Given the description of an element on the screen output the (x, y) to click on. 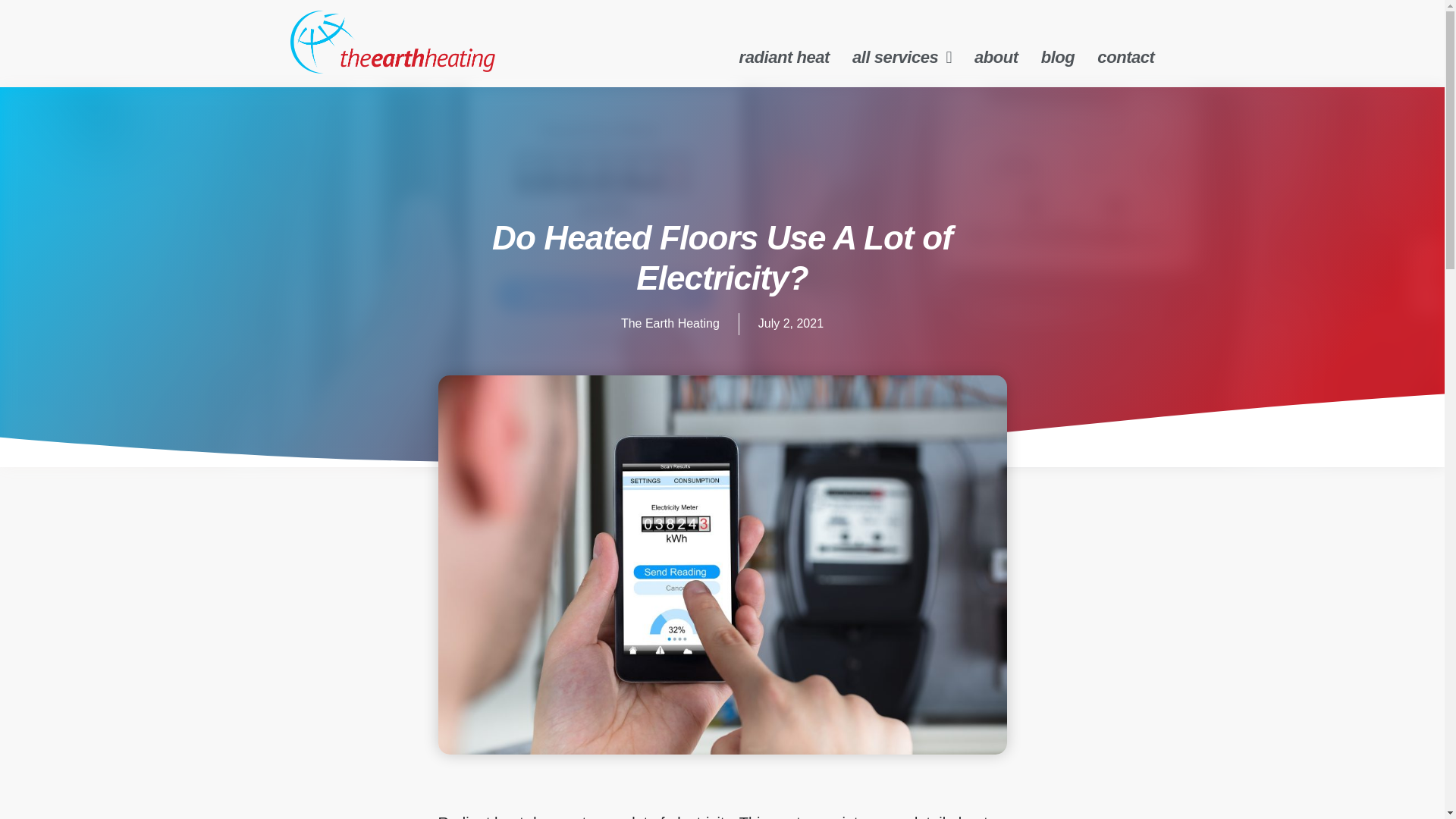
blog (1058, 57)
July 2, 2021 (791, 323)
contact (1125, 57)
The Earth Heating (670, 323)
all services (901, 57)
radiant heat (784, 57)
about (995, 57)
